Given the description of an element on the screen output the (x, y) to click on. 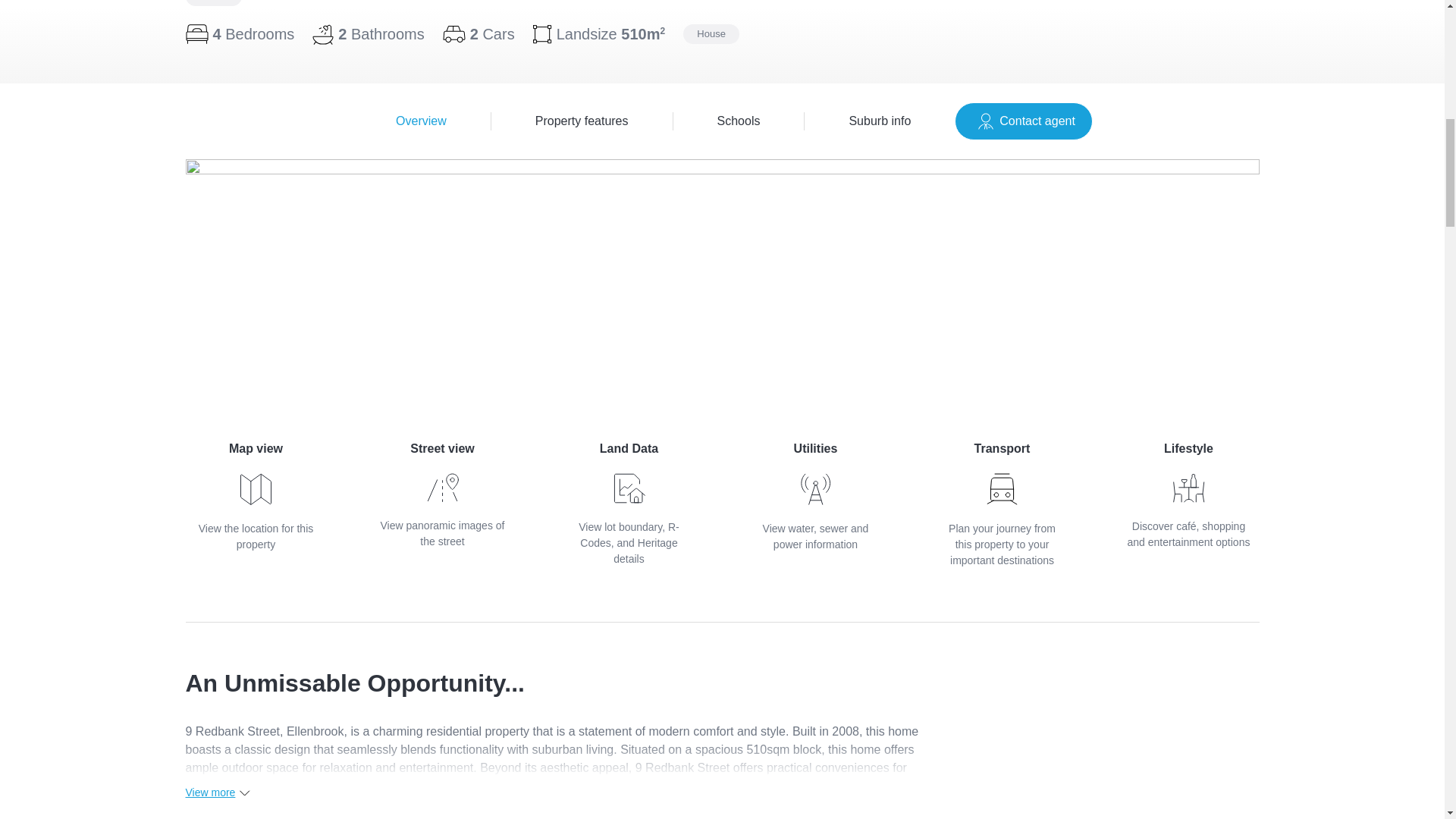
Contact agent (1024, 121)
Overview (721, 121)
Schools (814, 496)
Suburb info (255, 496)
Property features (421, 121)
